Given the description of an element on the screen output the (x, y) to click on. 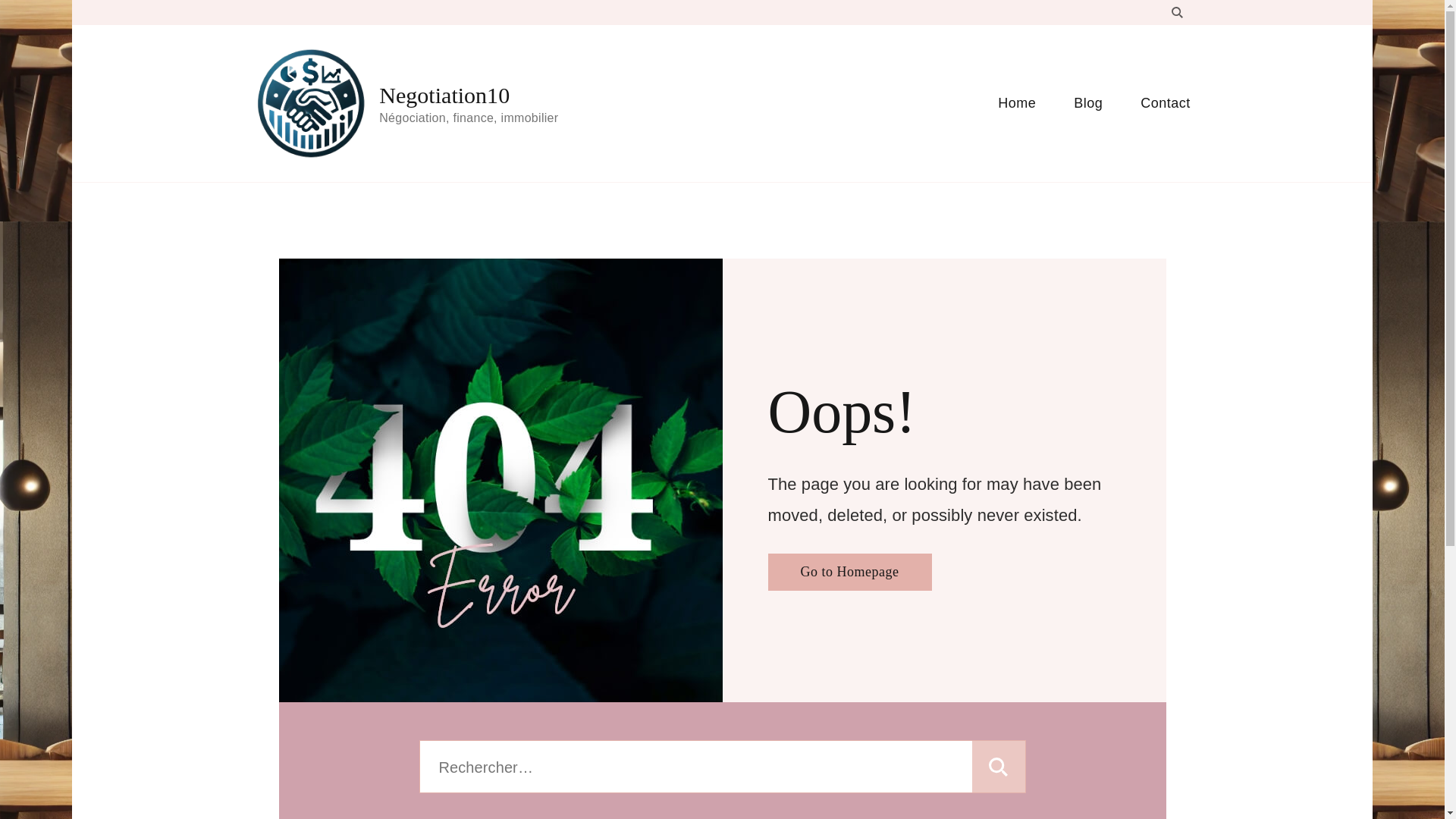
Rechercher (998, 766)
Negotiation10 (443, 95)
Contact (1156, 103)
Rechercher (998, 766)
Home (1016, 103)
Blog (1087, 103)
Go to Homepage (849, 571)
Rechercher (998, 766)
